Given the description of an element on the screen output the (x, y) to click on. 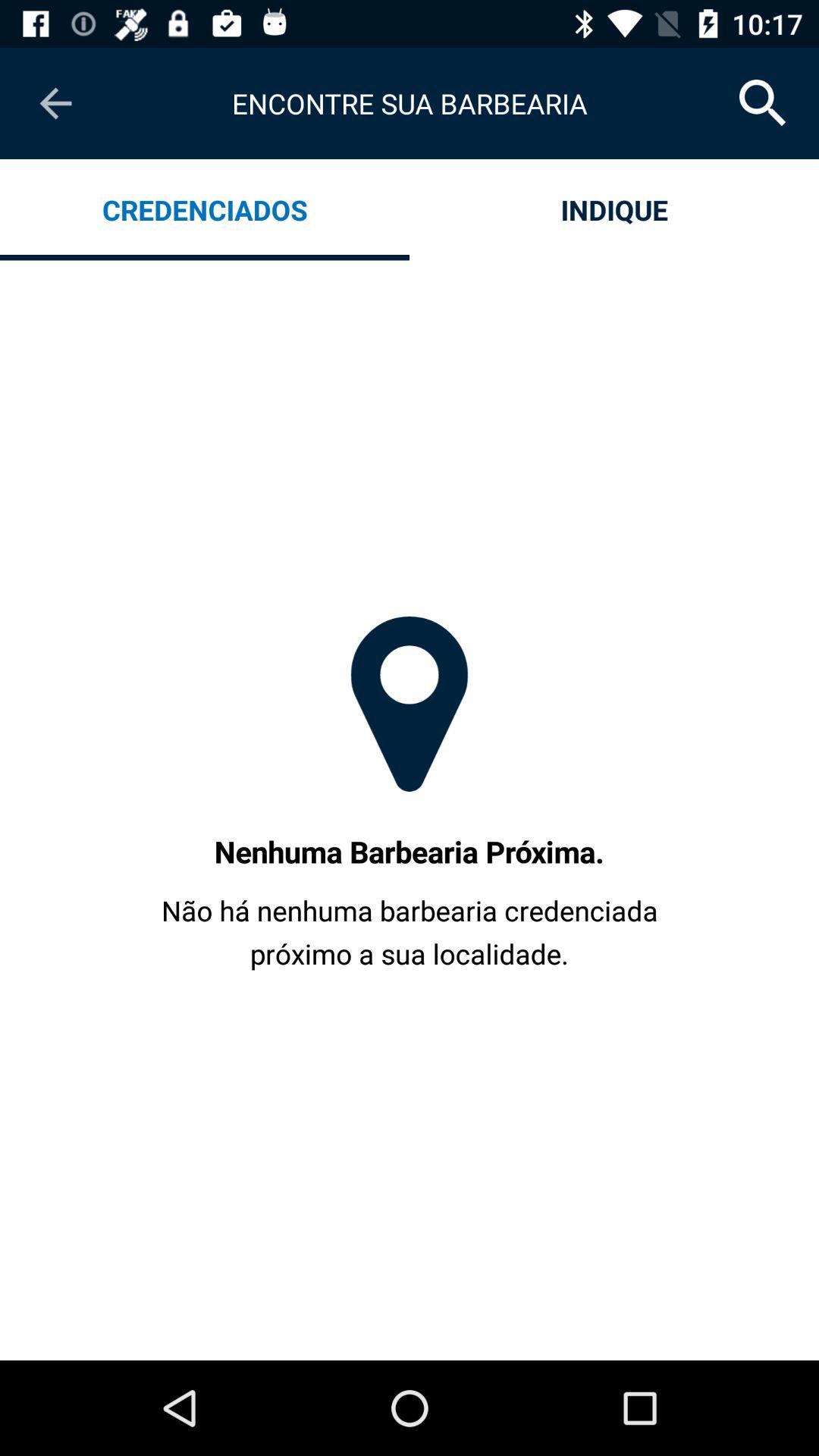
choose the icon next to the encontre sua barbearia icon (763, 103)
